Given the description of an element on the screen output the (x, y) to click on. 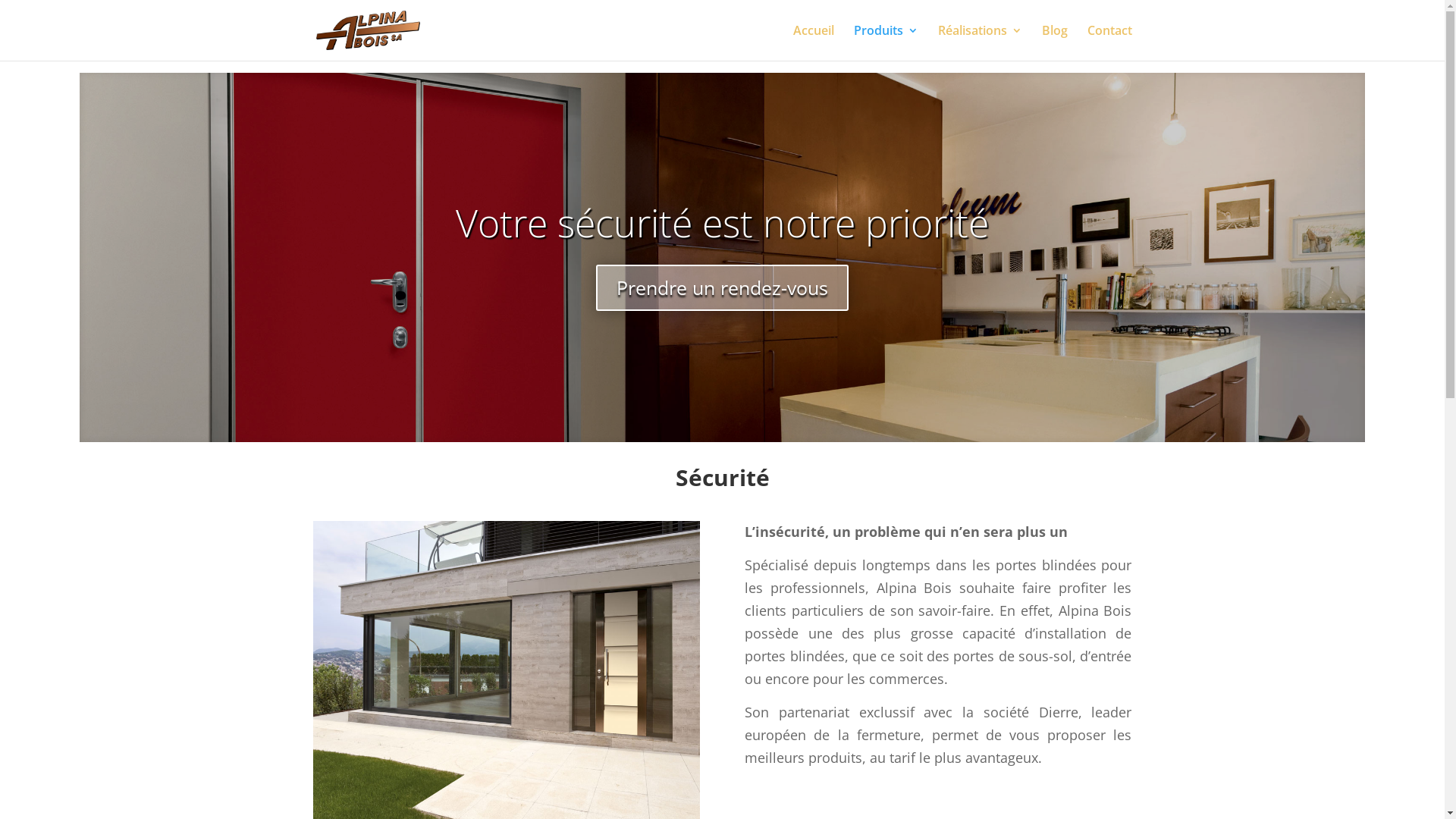
Contact Element type: text (1109, 42)
Prendre un rendez-vous Element type: text (722, 287)
Produits Element type: text (885, 42)
Accueil Element type: text (813, 42)
Blog Element type: text (1054, 42)
